Given the description of an element on the screen output the (x, y) to click on. 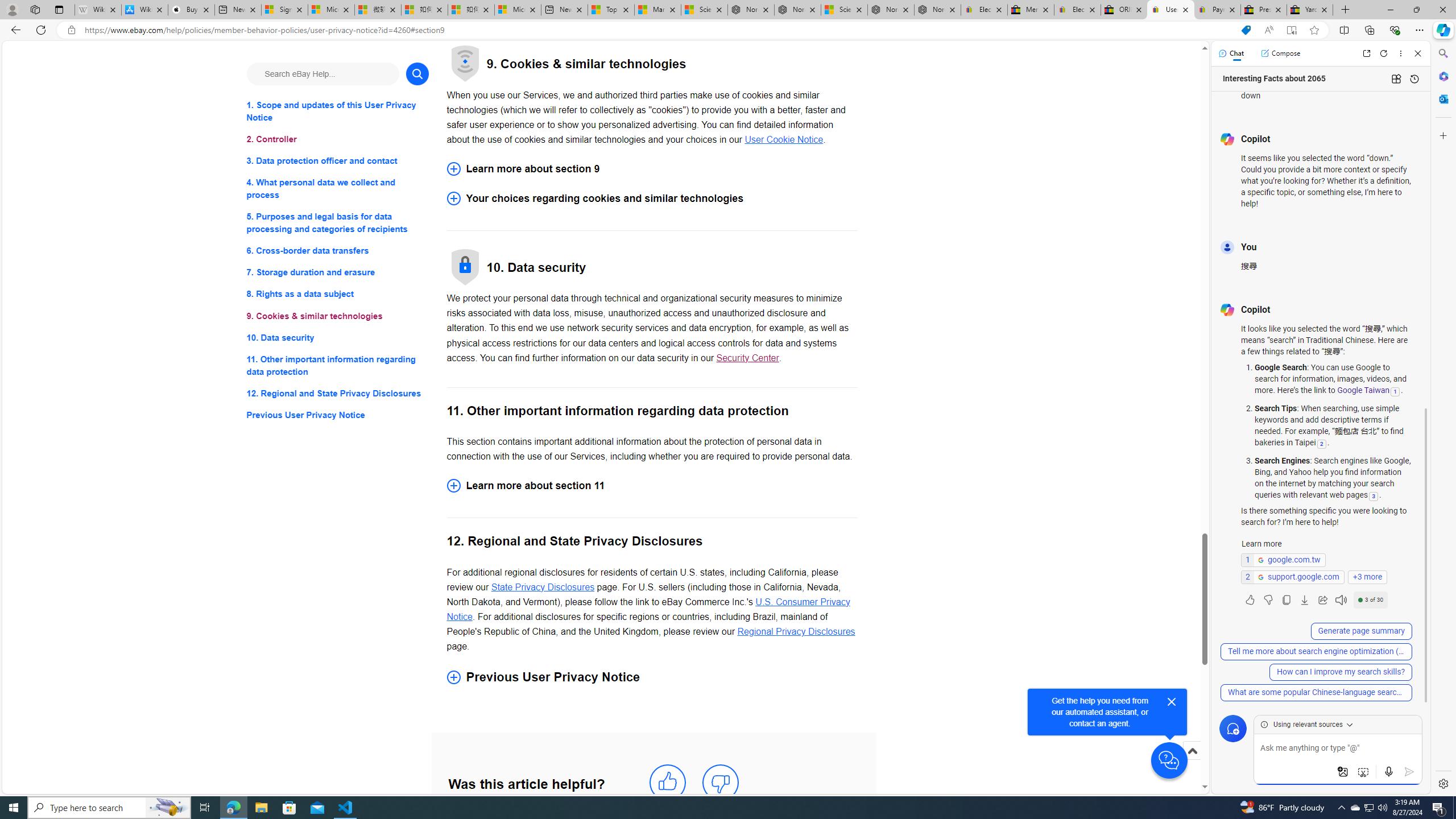
Previous User Privacy Notice (337, 414)
9. Cookies & similar technologies (337, 315)
